Given the description of an element on the screen output the (x, y) to click on. 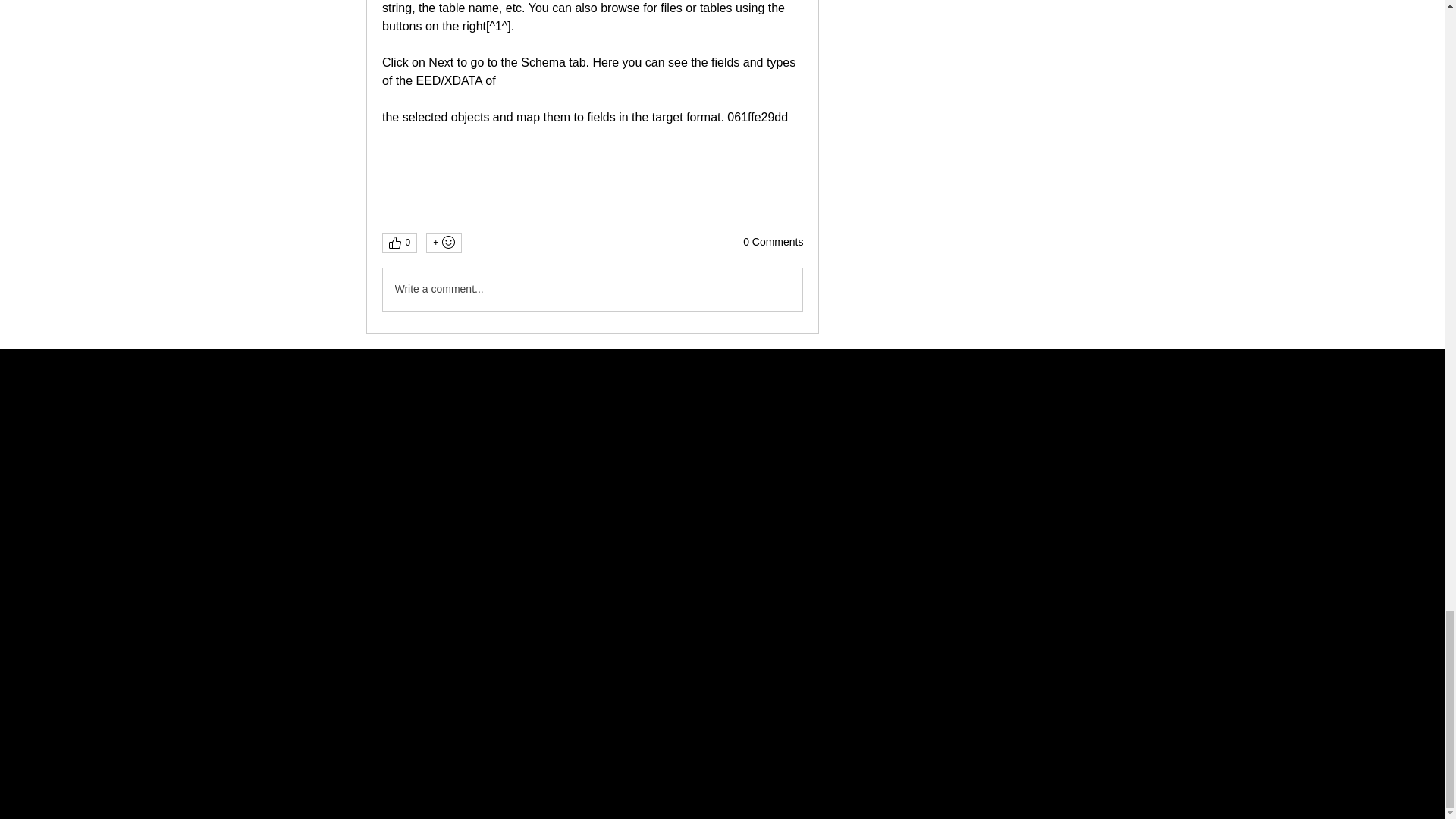
Write a comment... (591, 289)
0 Comments (772, 242)
